Given the description of an element on the screen output the (x, y) to click on. 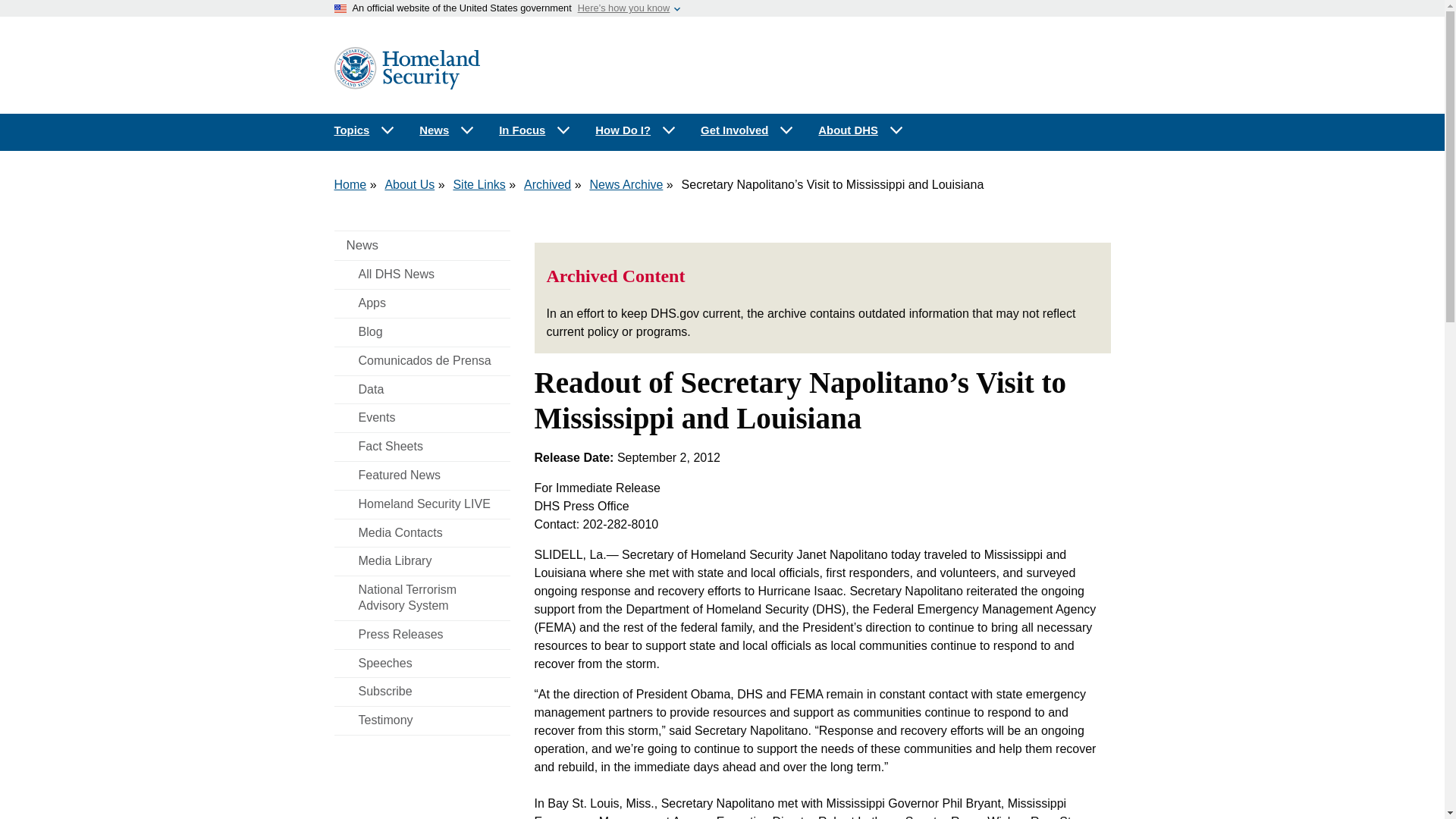
News (446, 130)
Events (421, 418)
Home (349, 184)
About Us (408, 184)
Comunicados de Prensa (421, 361)
About DHS (860, 130)
Data (421, 389)
All DHS News (421, 275)
In Focus (534, 130)
Featured News (421, 475)
Topics (364, 130)
Homeland Security LIVE (421, 504)
Blog (421, 332)
Media Library (421, 561)
How Do I? (635, 130)
